Given the description of an element on the screen output the (x, y) to click on. 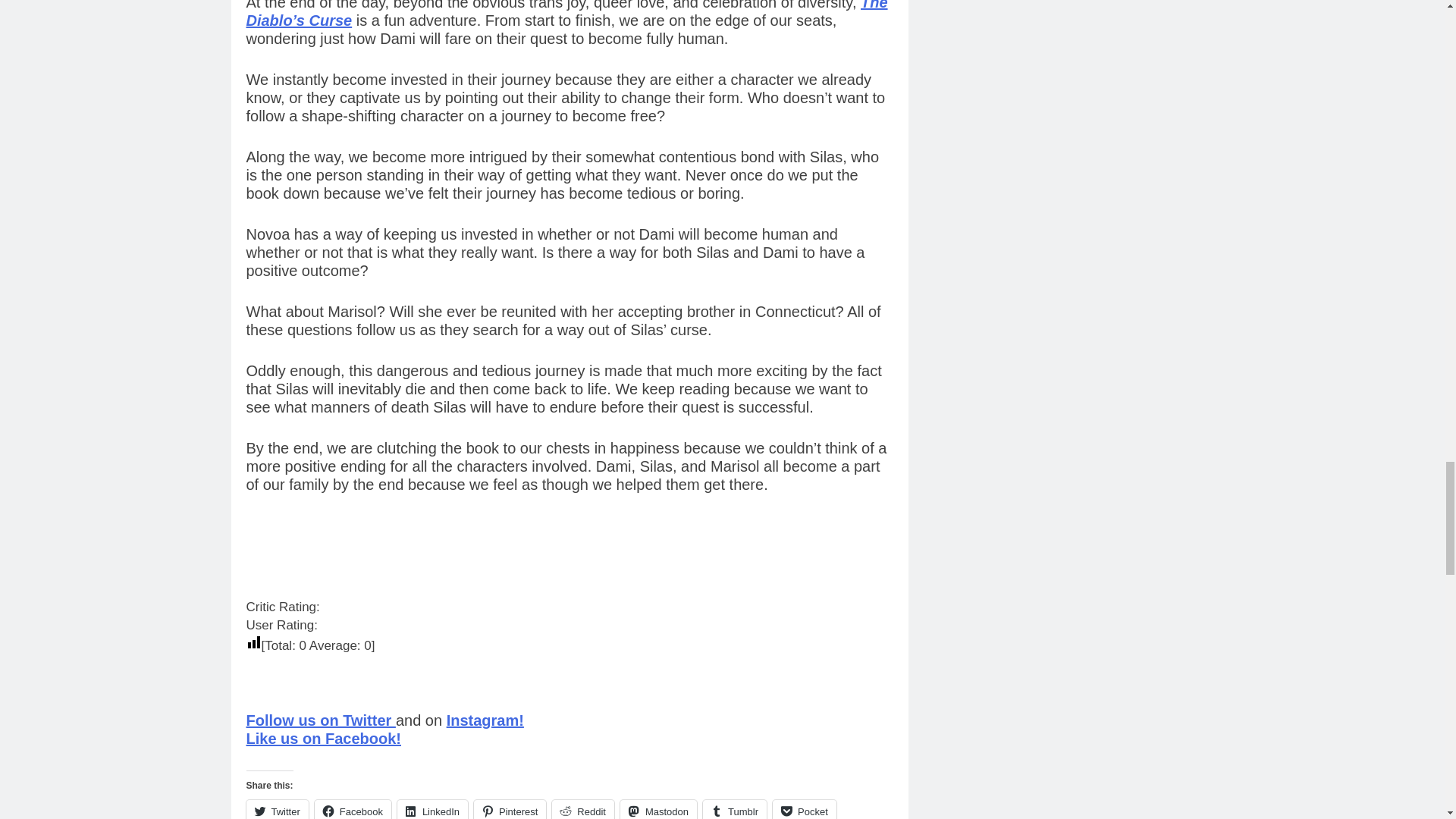
Click to share on Twitter (276, 809)
Click to share on Tumblr (735, 809)
Click to share on Reddit (582, 809)
Click to share on Facebook (352, 809)
Click to share on LinkedIn (432, 809)
Click to share on Pinterest (510, 809)
Click to share on Mastodon (658, 809)
Click to share on Pocket (804, 809)
